Given the description of an element on the screen output the (x, y) to click on. 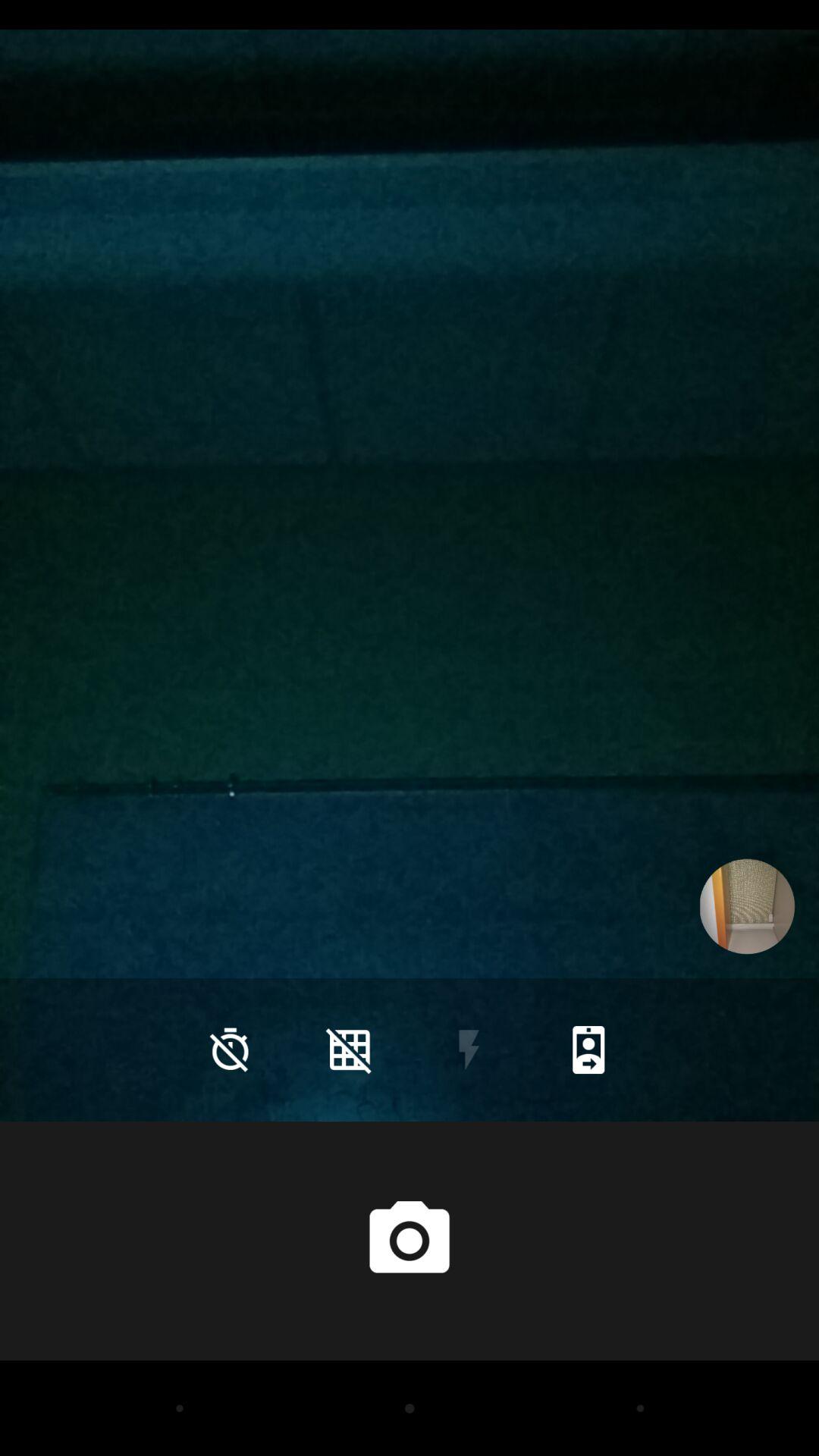
press icon at the bottom right corner (588, 1049)
